Given the description of an element on the screen output the (x, y) to click on. 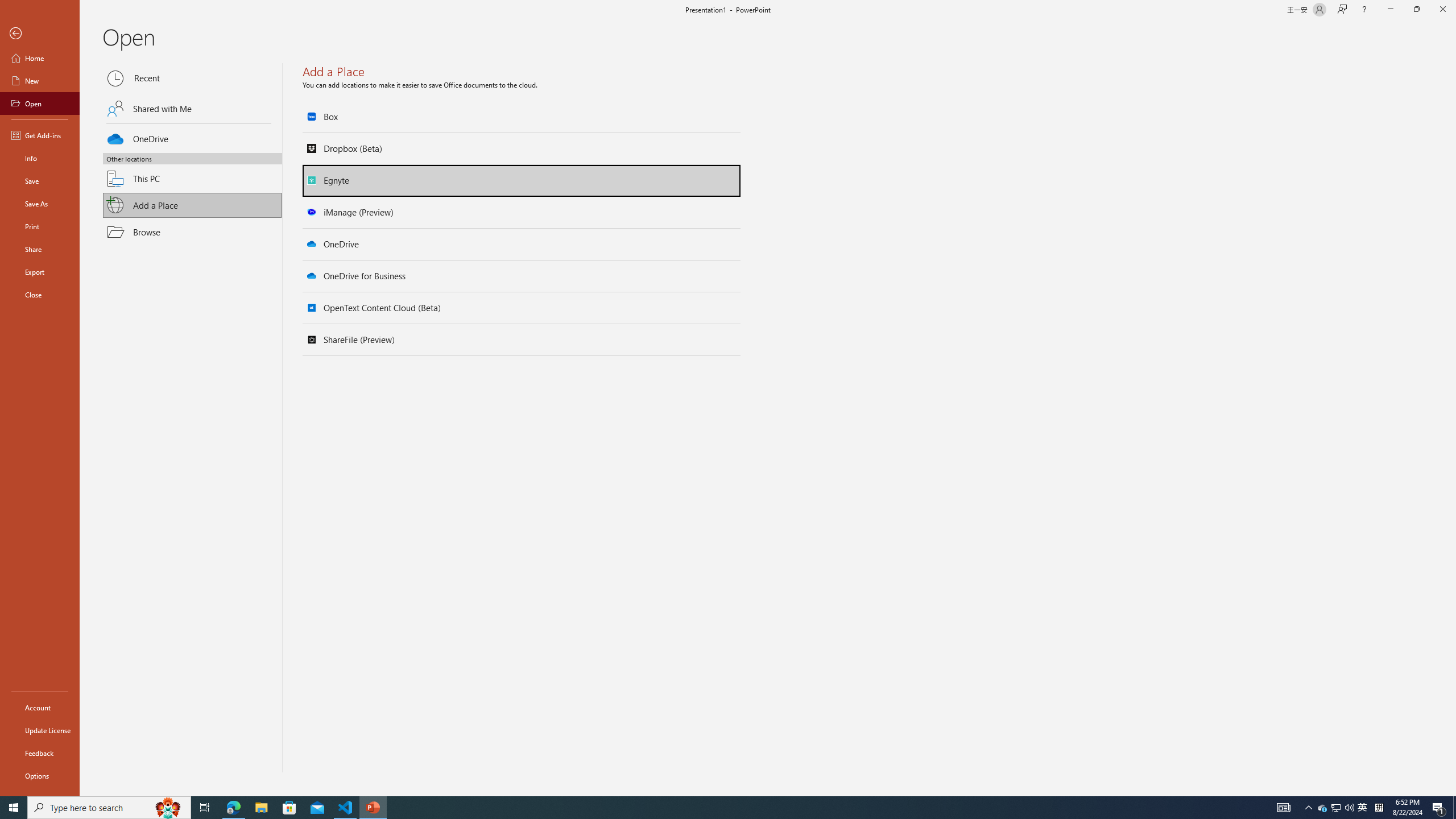
Print (40, 225)
Get Add-ins (40, 134)
OneDrive (192, 136)
New (40, 80)
Browse (192, 231)
This PC (192, 171)
Export (40, 271)
Add a Place (192, 204)
Dropbox (Beta) (521, 148)
Info (40, 157)
